Given the description of an element on the screen output the (x, y) to click on. 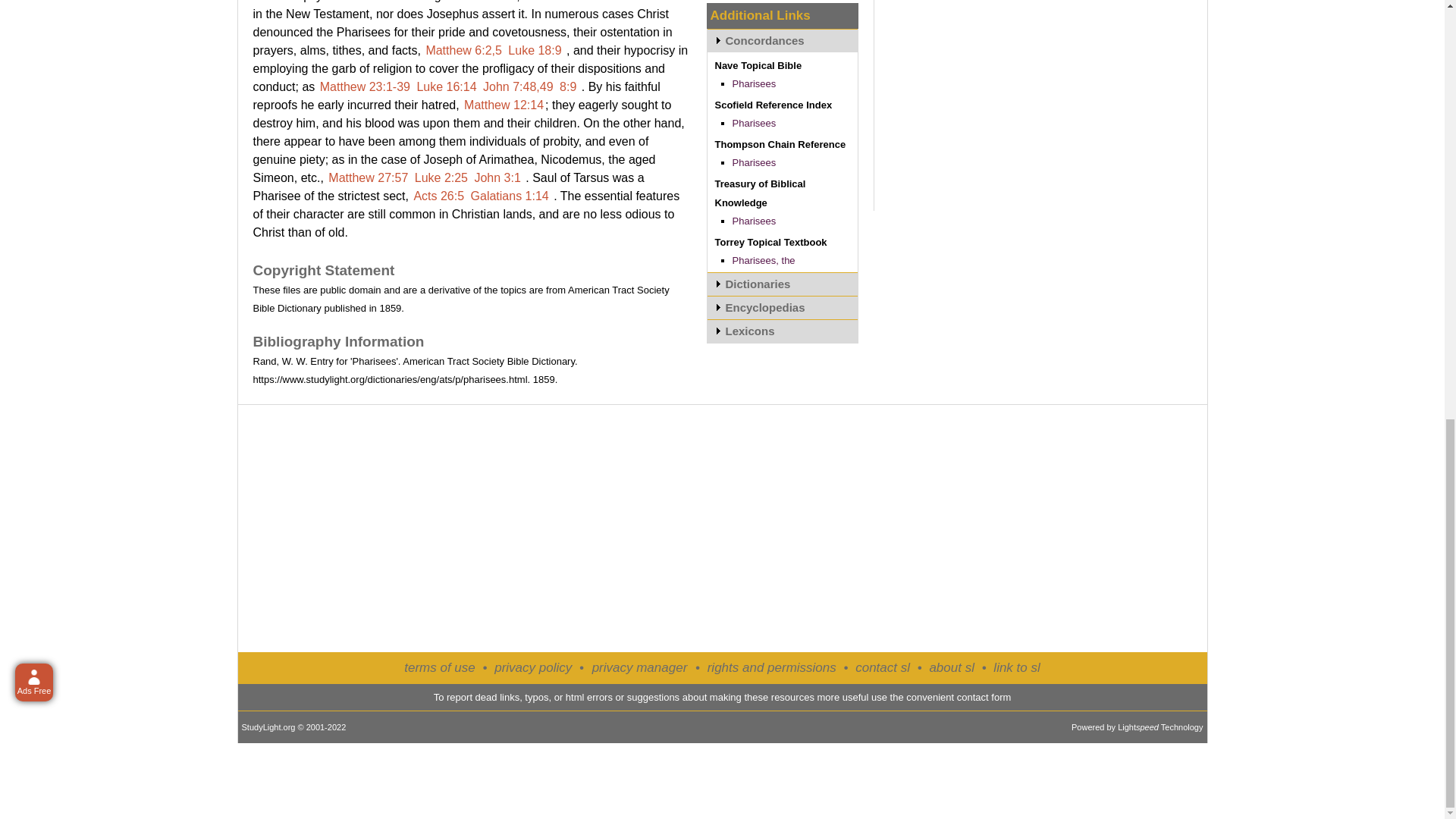
Pharisees (754, 83)
Pharisees (754, 122)
Concordances (781, 40)
